Given the description of an element on the screen output the (x, y) to click on. 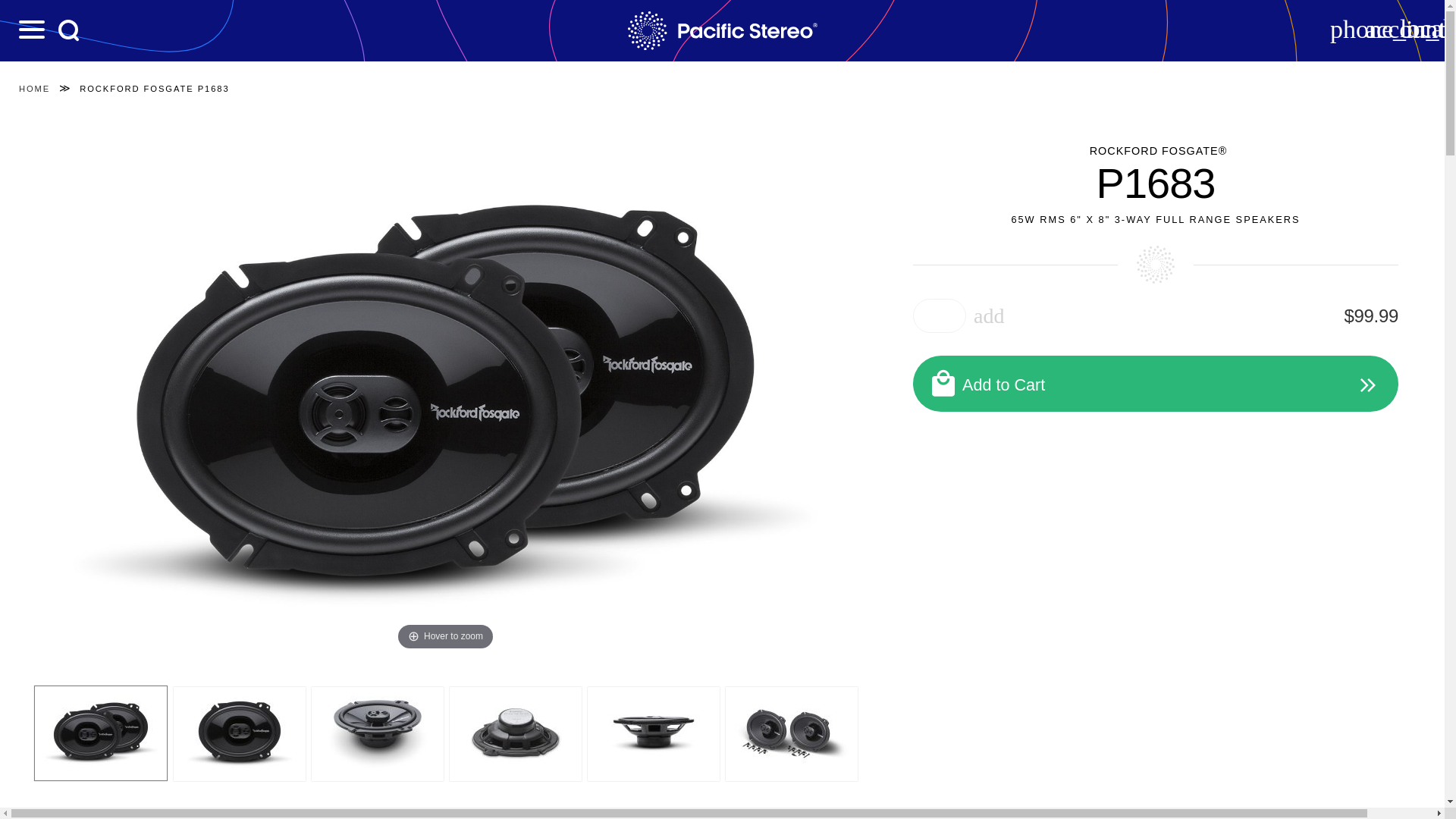
Rockford Fosgate P1683 (100, 733)
Add to Cart (1154, 383)
Add to Cart (1154, 383)
Rockford Fosgate P1683 (514, 734)
Rockford Fosgate P1683 (652, 734)
HOME (33, 88)
Rockford Fosgate P1683 (376, 734)
Rockford Fosgate P1683 (238, 734)
Go to Home Page (33, 88)
Rockford Fosgate P1683 (791, 734)
Qty (939, 315)
